Given the description of an element on the screen output the (x, y) to click on. 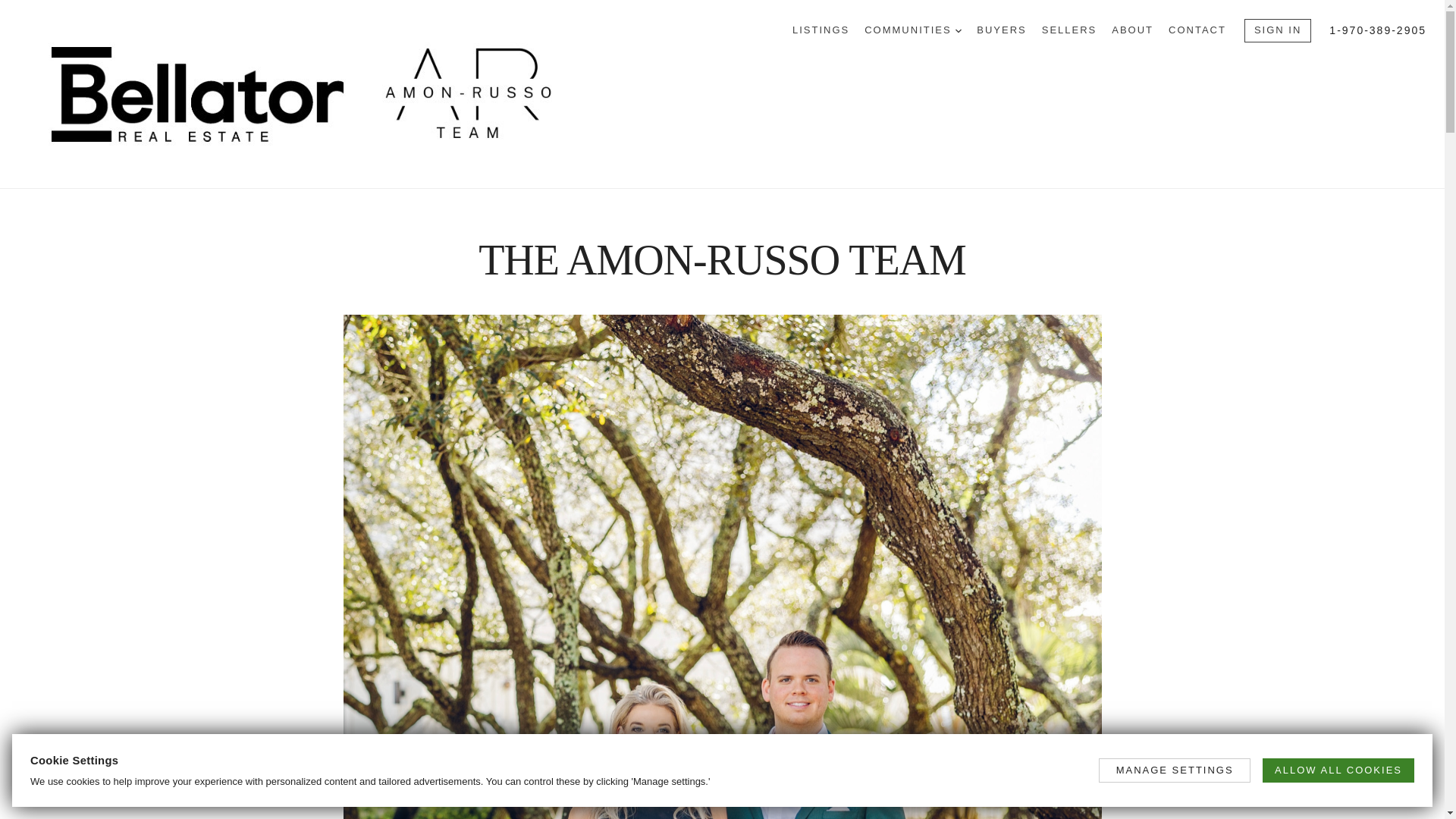
SIGN IN (1277, 30)
CONTACT (1197, 30)
COMMUNITIES DROPDOWN ARROW (912, 30)
LISTINGS (820, 30)
1-970-389-2905 (1377, 29)
SELLERS (1069, 30)
ABOUT (1132, 30)
DROPDOWN ARROW (957, 30)
BUYERS (1001, 30)
